Given the description of an element on the screen output the (x, y) to click on. 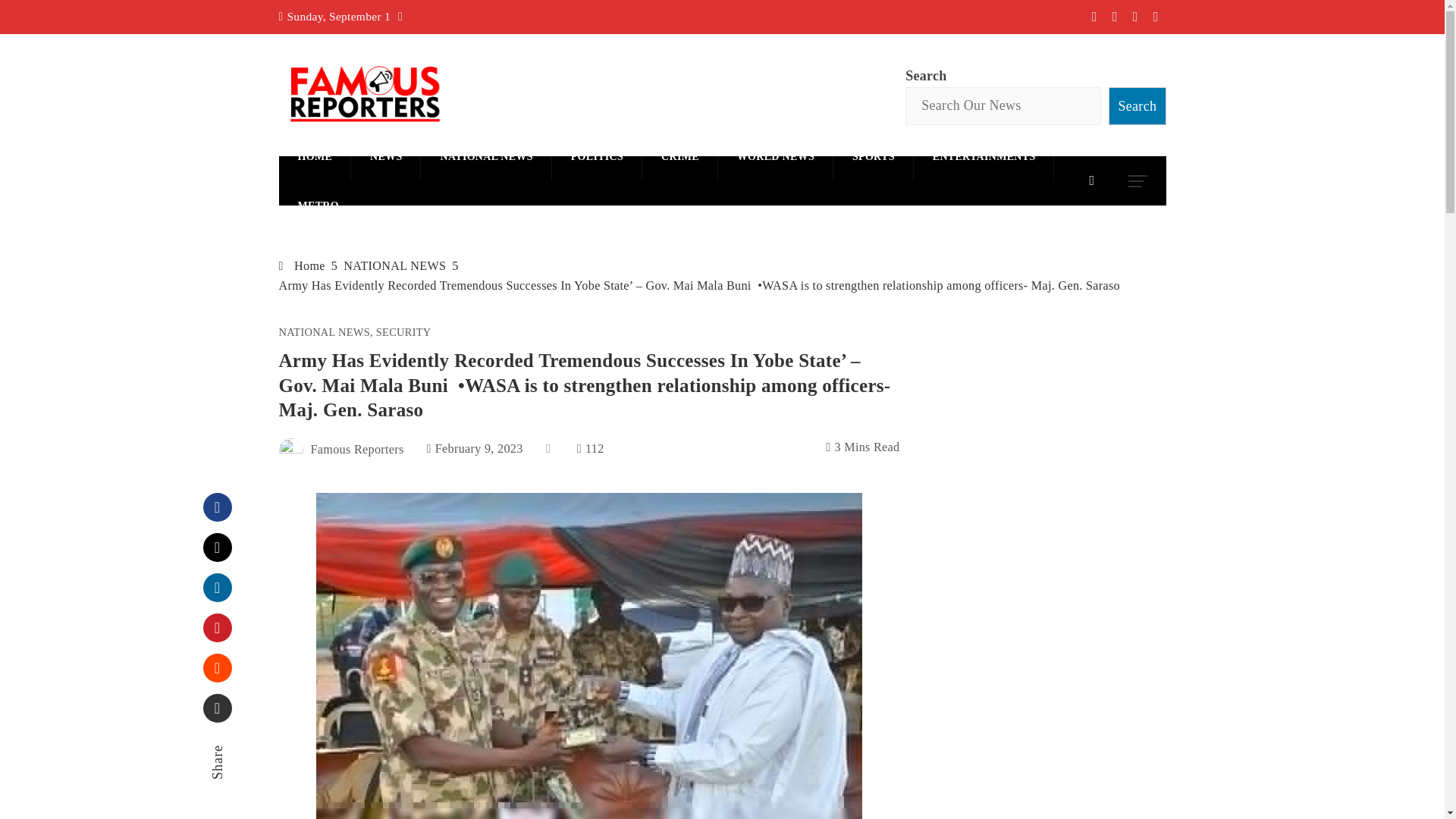
WORLD NEWS (775, 155)
SECURITY (402, 331)
Email (217, 707)
NATIONAL NEWS (324, 331)
HOME (314, 155)
METRO (318, 205)
Twitter (217, 547)
Stumbleupon (217, 667)
Home (301, 265)
SPORTS (873, 155)
